Given the description of an element on the screen output the (x, y) to click on. 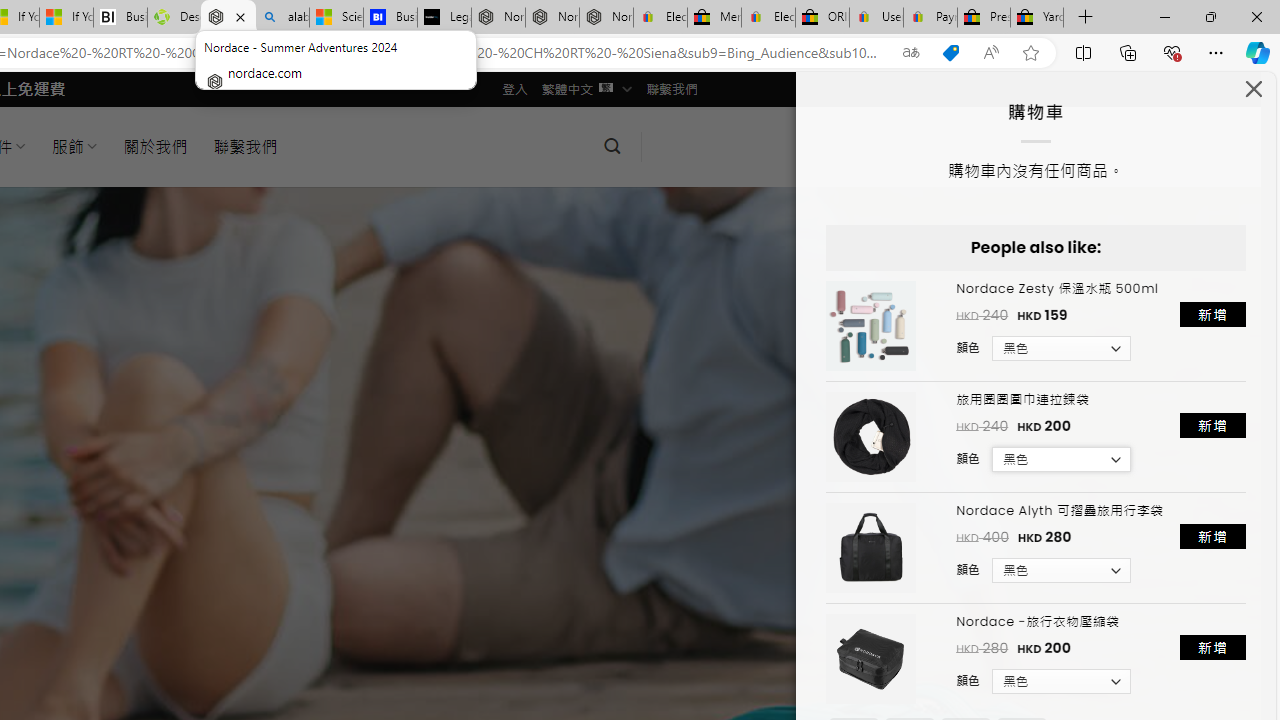
Show translate options (910, 53)
Electronics, Cars, Fashion, Collectibles & More | eBay (768, 17)
Nordace - Summer Adventures 2024 (228, 17)
Press Room - eBay Inc. (983, 17)
Close (Esc) (1253, 93)
